Given the description of an element on the screen output the (x, y) to click on. 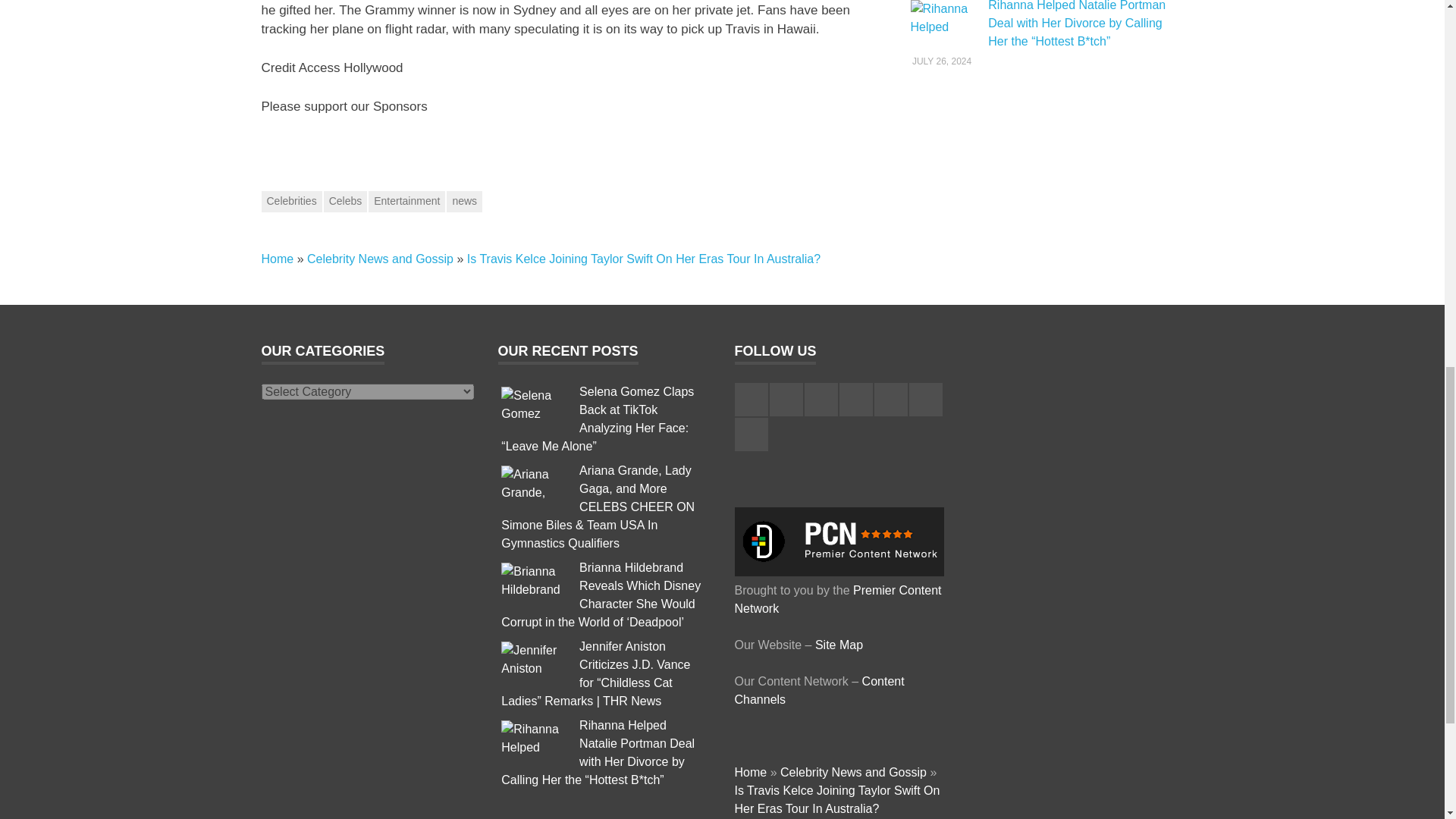
Home (277, 258)
Celebrity News and Gossip (379, 258)
Celebs (345, 201)
Celebrities (290, 201)
